Given the description of an element on the screen output the (x, y) to click on. 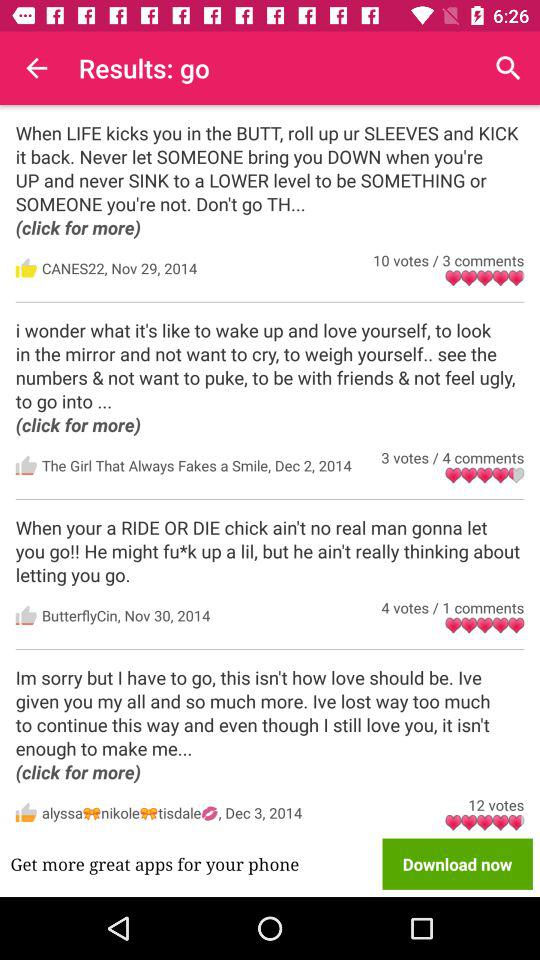
press the app next to results: go app (508, 67)
